Given the description of an element on the screen output the (x, y) to click on. 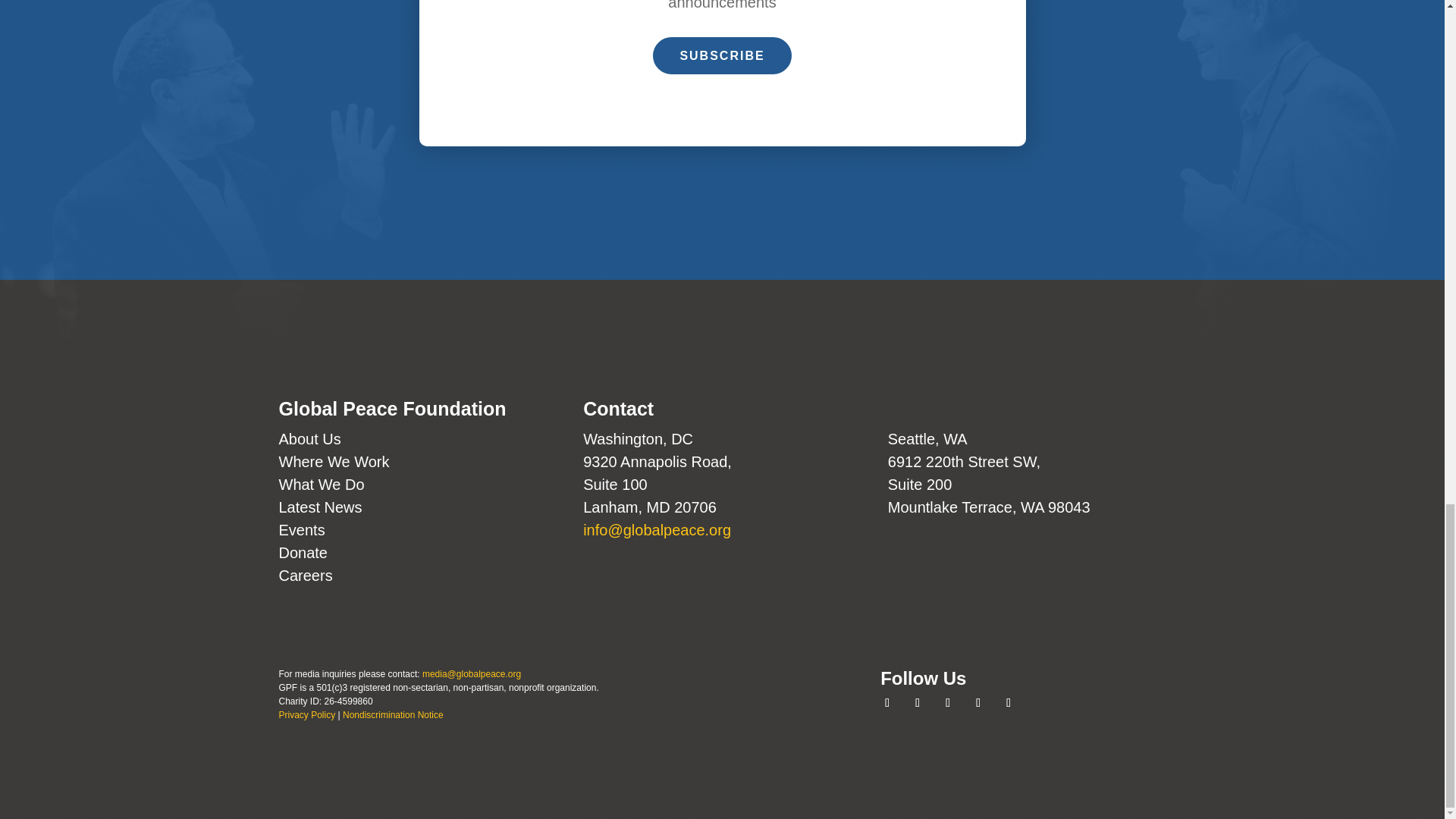
Follow on Instagram (947, 702)
Follow on Youtube (1007, 702)
Follow on LinkedIn (978, 702)
Follow on X (917, 702)
Follow on Facebook (887, 702)
